Given the description of an element on the screen output the (x, y) to click on. 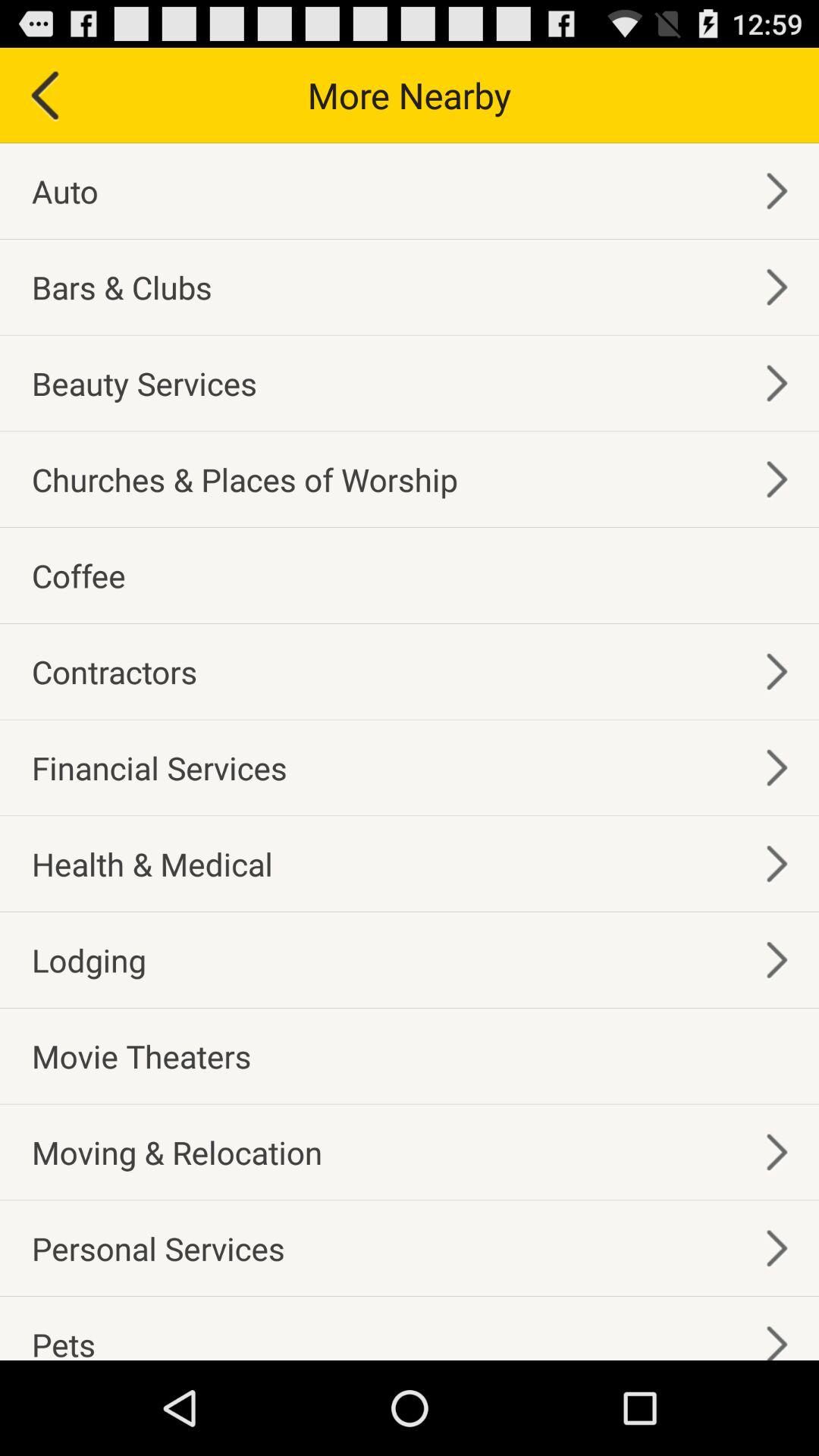
press the coffee (78, 575)
